Given the description of an element on the screen output the (x, y) to click on. 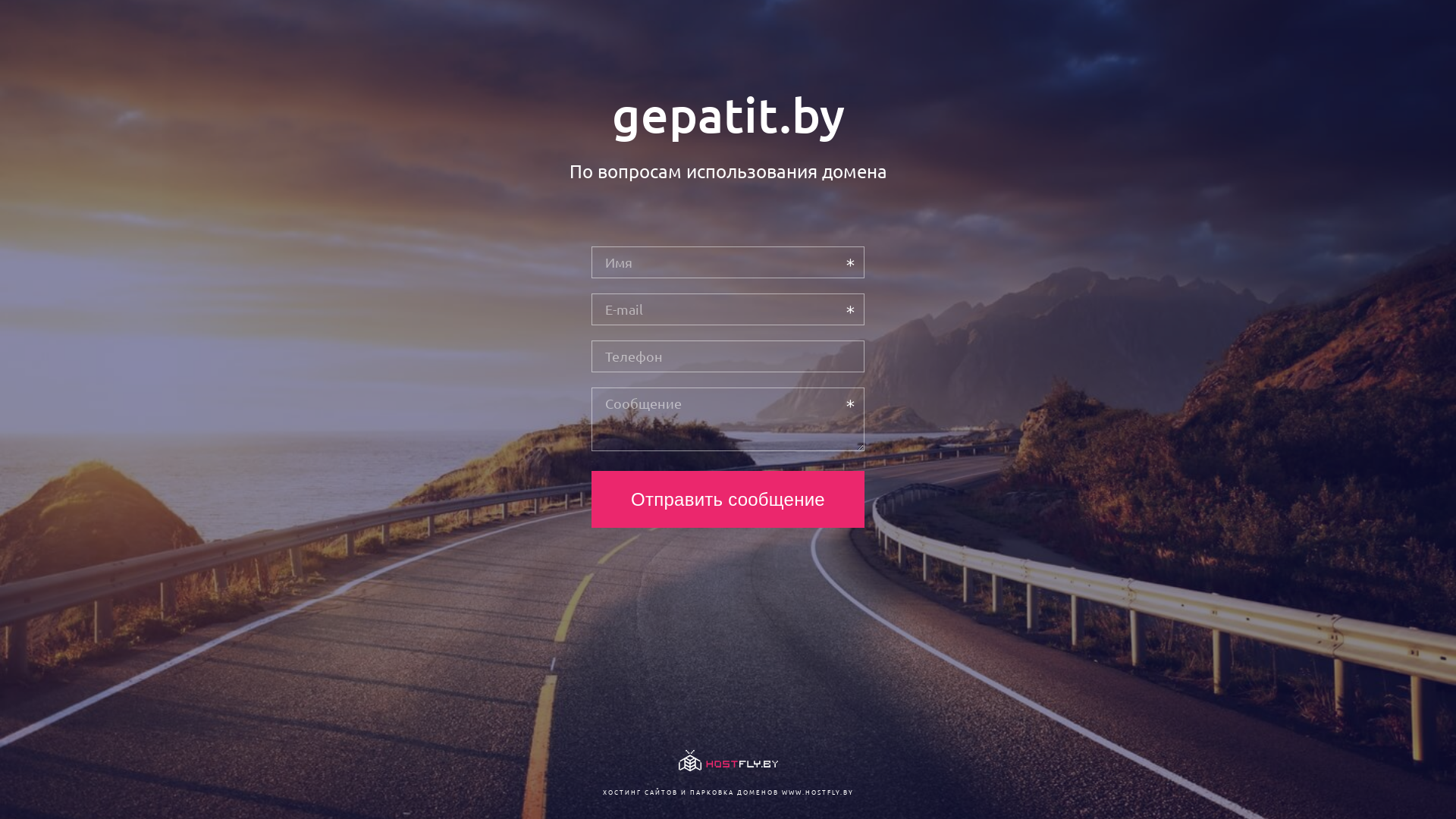
WWW.HOSTFLY.BY Element type: text (817, 791)
